Given the description of an element on the screen output the (x, y) to click on. 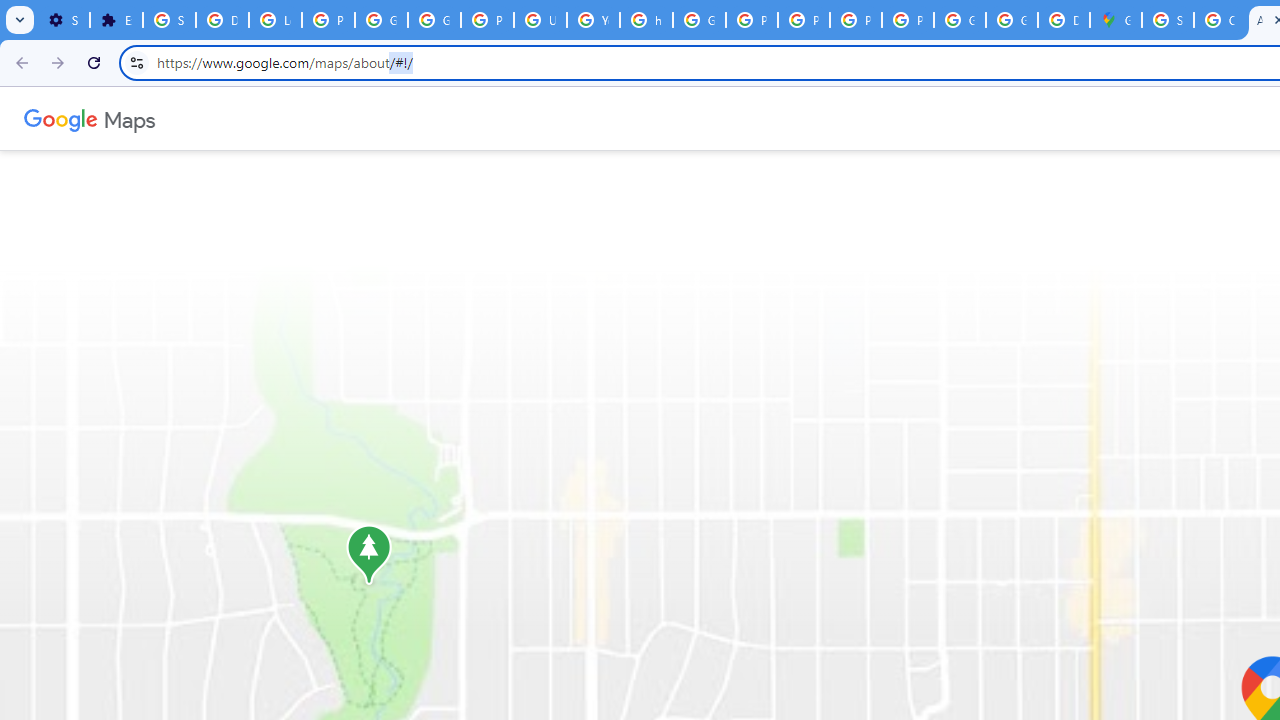
Delete photos & videos - Computer - Google Photos Help (222, 20)
Settings - On startup (63, 20)
Privacy Help Center - Policies Help (751, 20)
Skip to Content (264, 115)
Sign in - Google Accounts (169, 20)
Google Account Help (381, 20)
Google Maps (1115, 20)
